Given the description of an element on the screen output the (x, y) to click on. 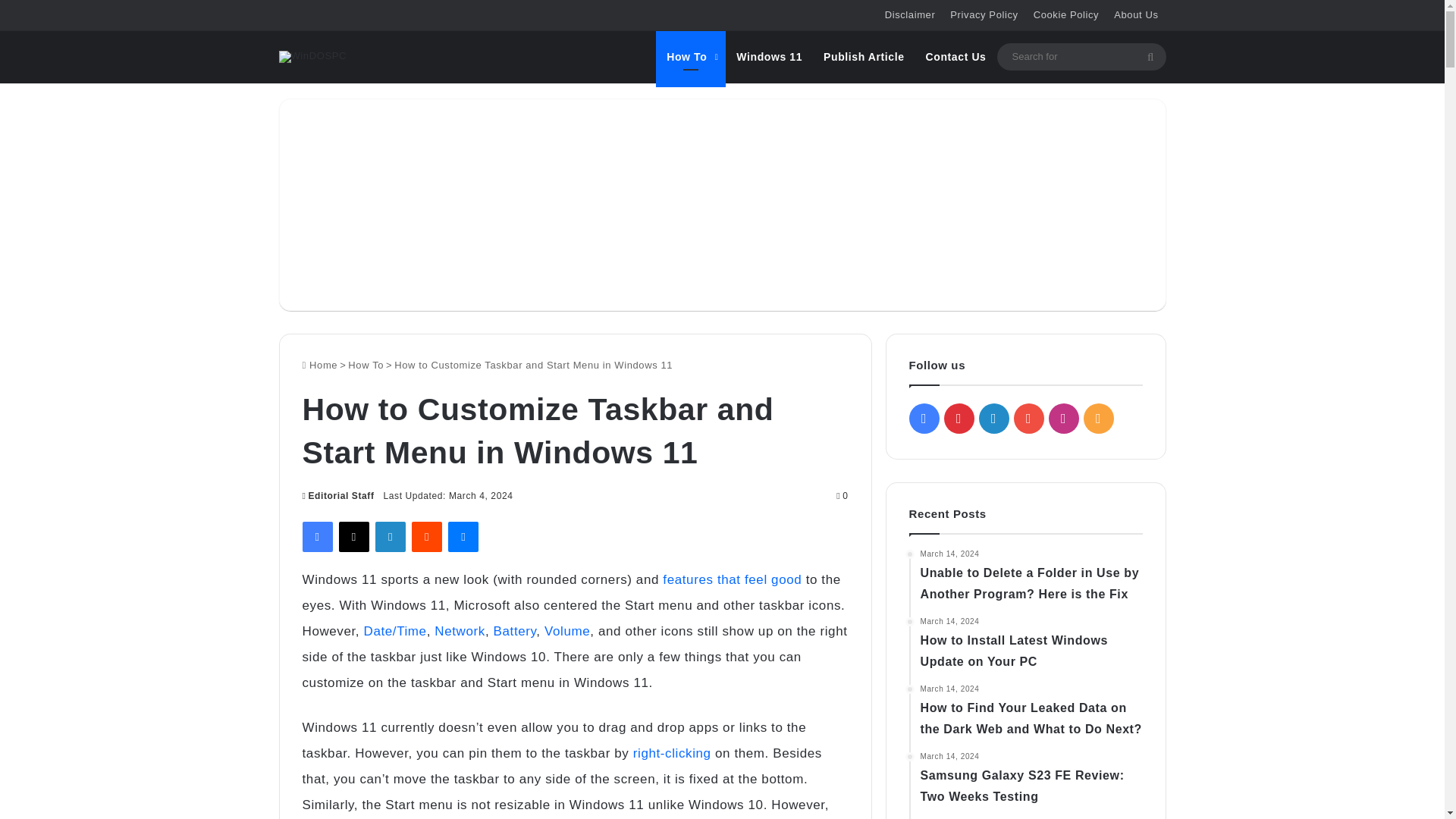
Publish Article (863, 56)
Contact Us (956, 56)
How To (690, 56)
About Us (1136, 15)
Cookie Policy (1066, 15)
Search for (1080, 56)
Reddit (427, 536)
Volume (566, 631)
Editorial Staff (337, 495)
Disclaimer (910, 15)
Privacy Policy (983, 15)
Network (458, 631)
Facebook (316, 536)
Reddit (427, 536)
Home (319, 365)
